Given the description of an element on the screen output the (x, y) to click on. 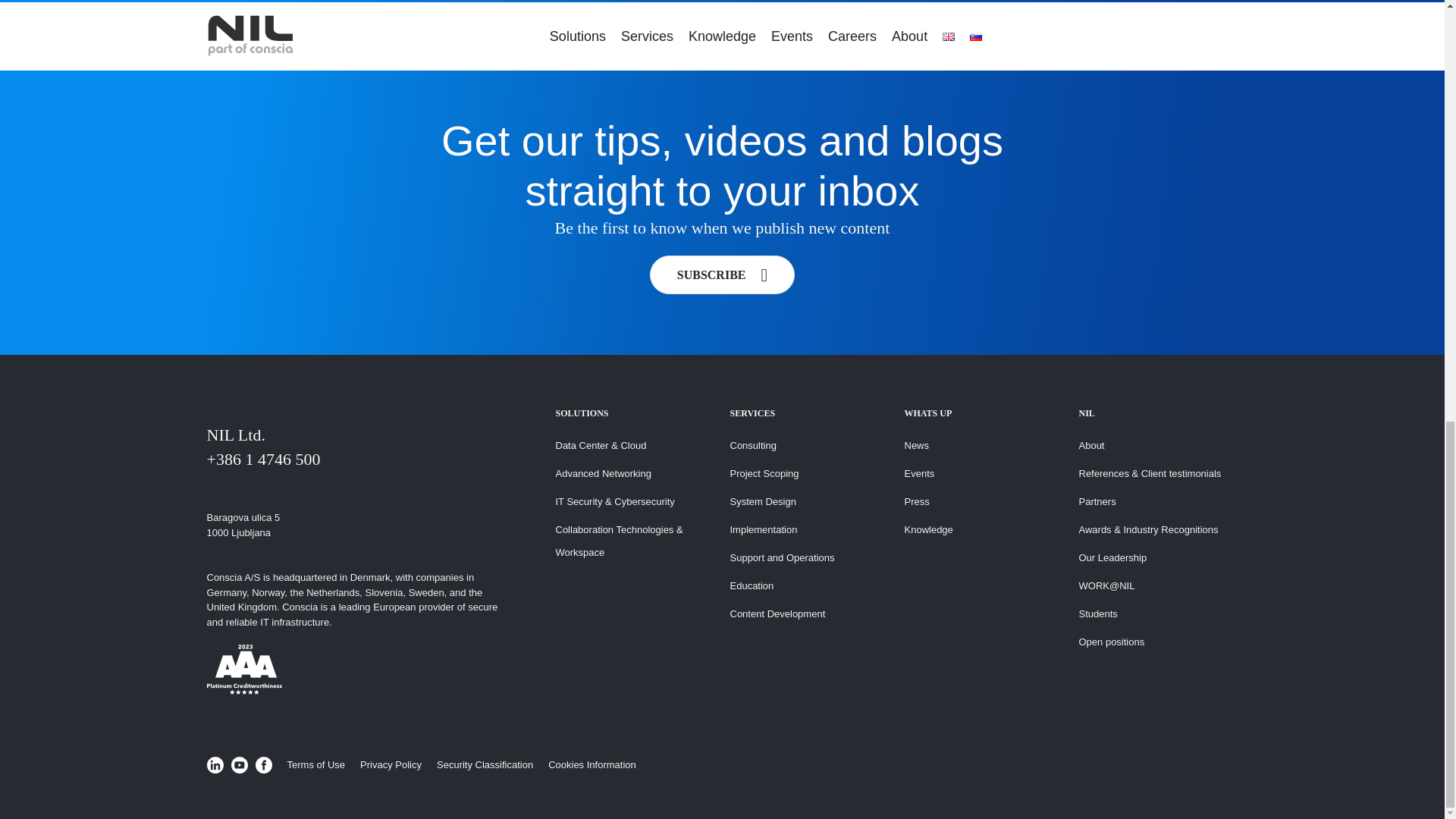
Facebook (262, 764)
Youtube (238, 764)
LinkedIn (214, 764)
